Given the description of an element on the screen output the (x, y) to click on. 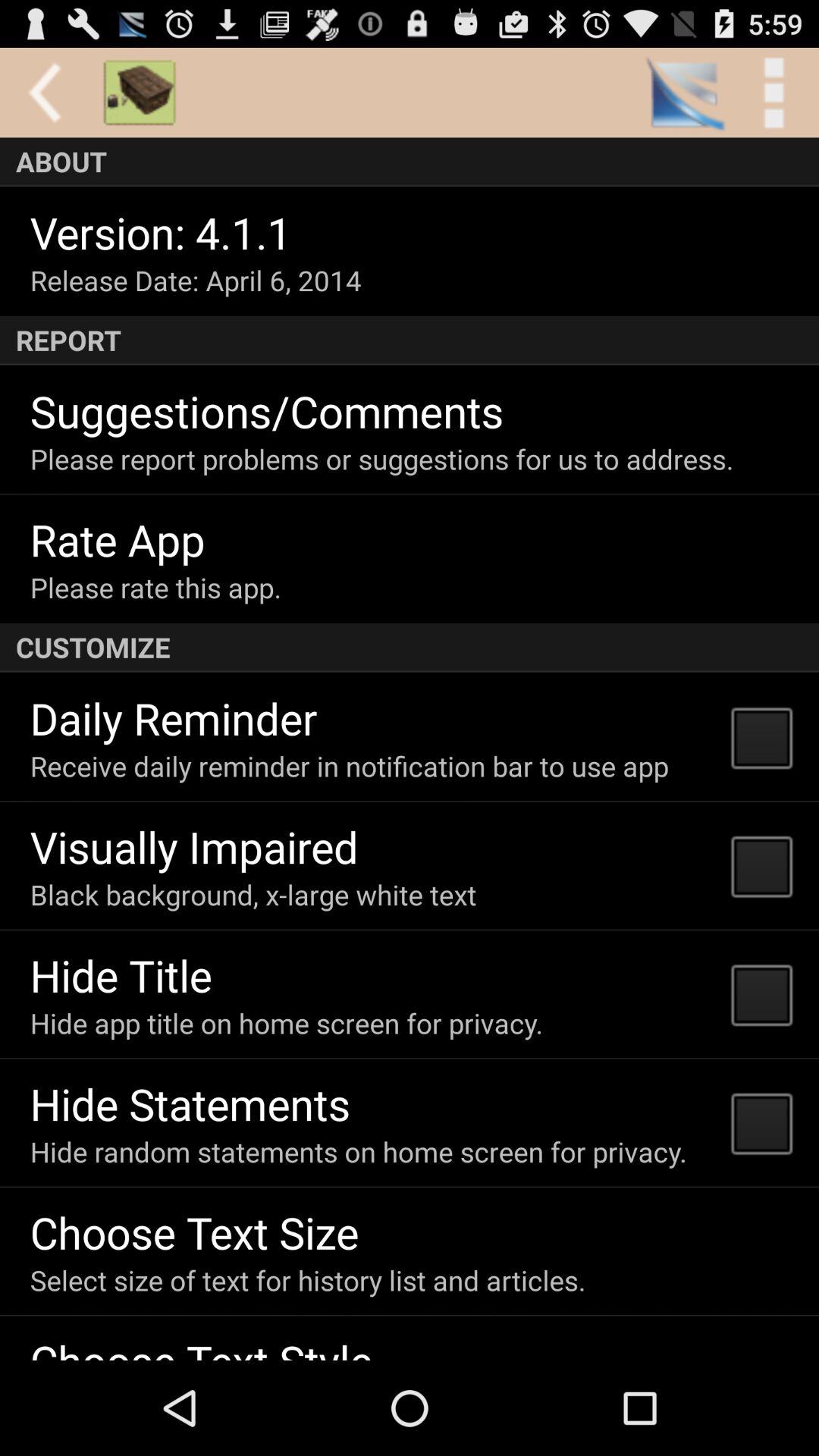
turn off visually impaired item (194, 846)
